Given the description of an element on the screen output the (x, y) to click on. 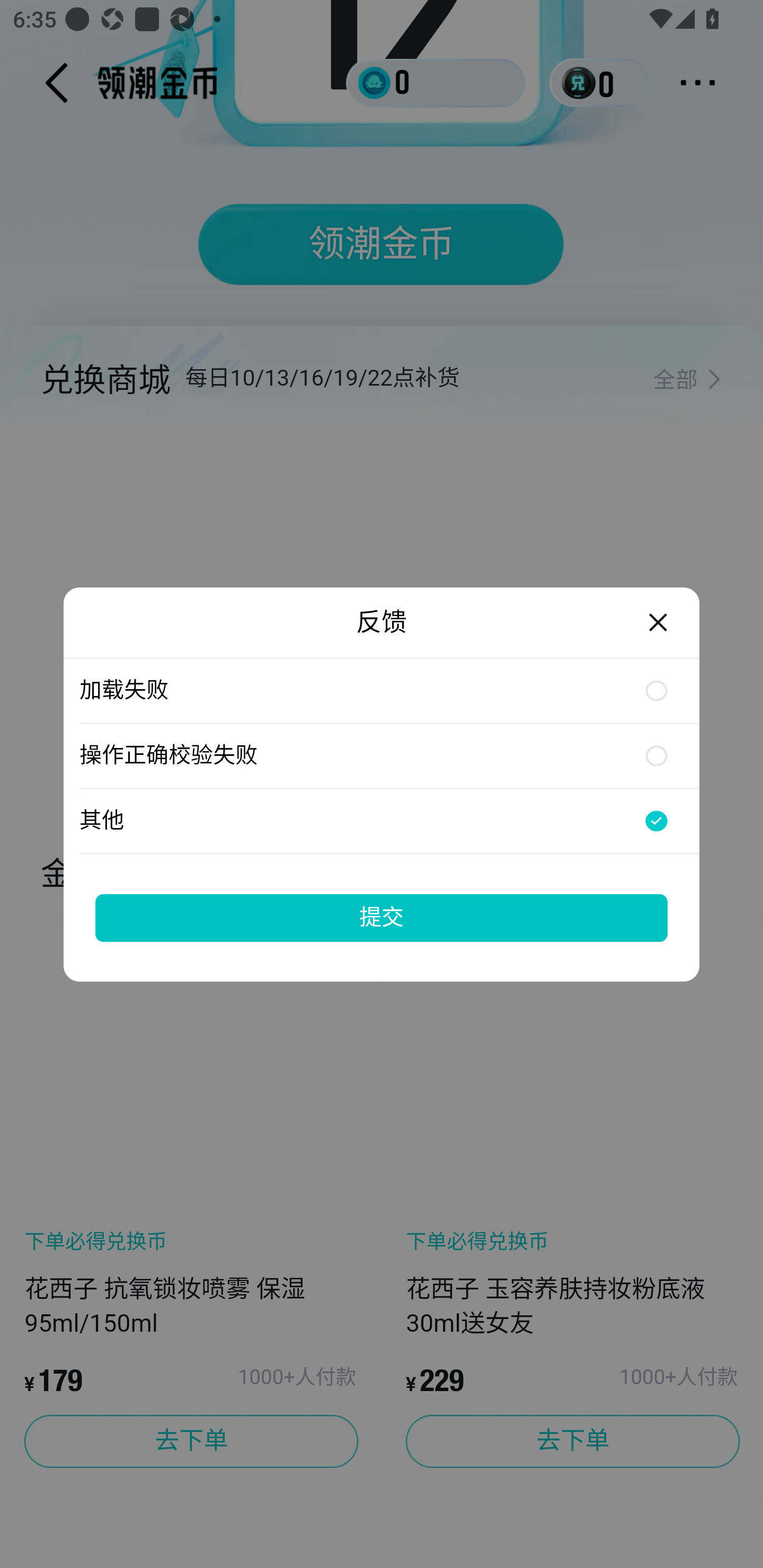
提交 (381, 917)
